Given the description of an element on the screen output the (x, y) to click on. 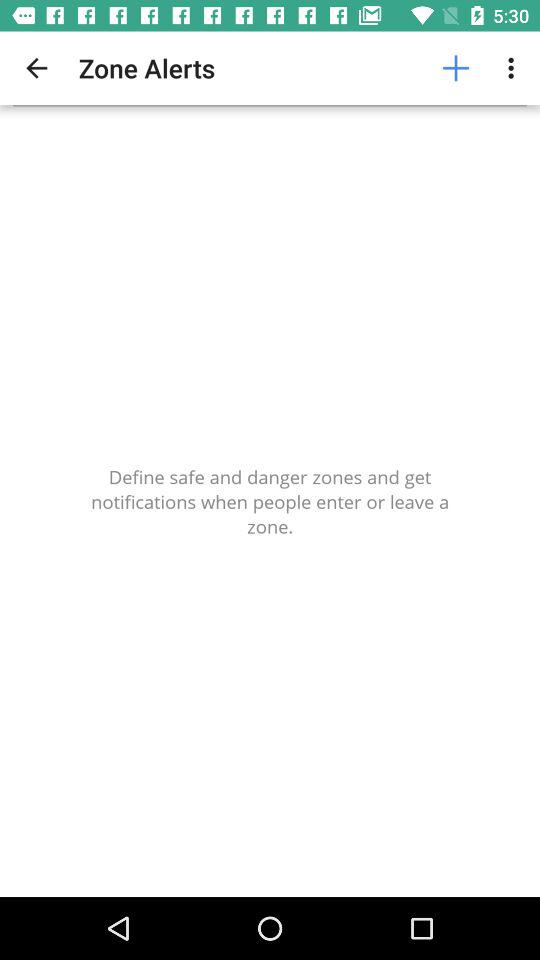
turn off app to the left of the zone alerts item (36, 68)
